Given the description of an element on the screen output the (x, y) to click on. 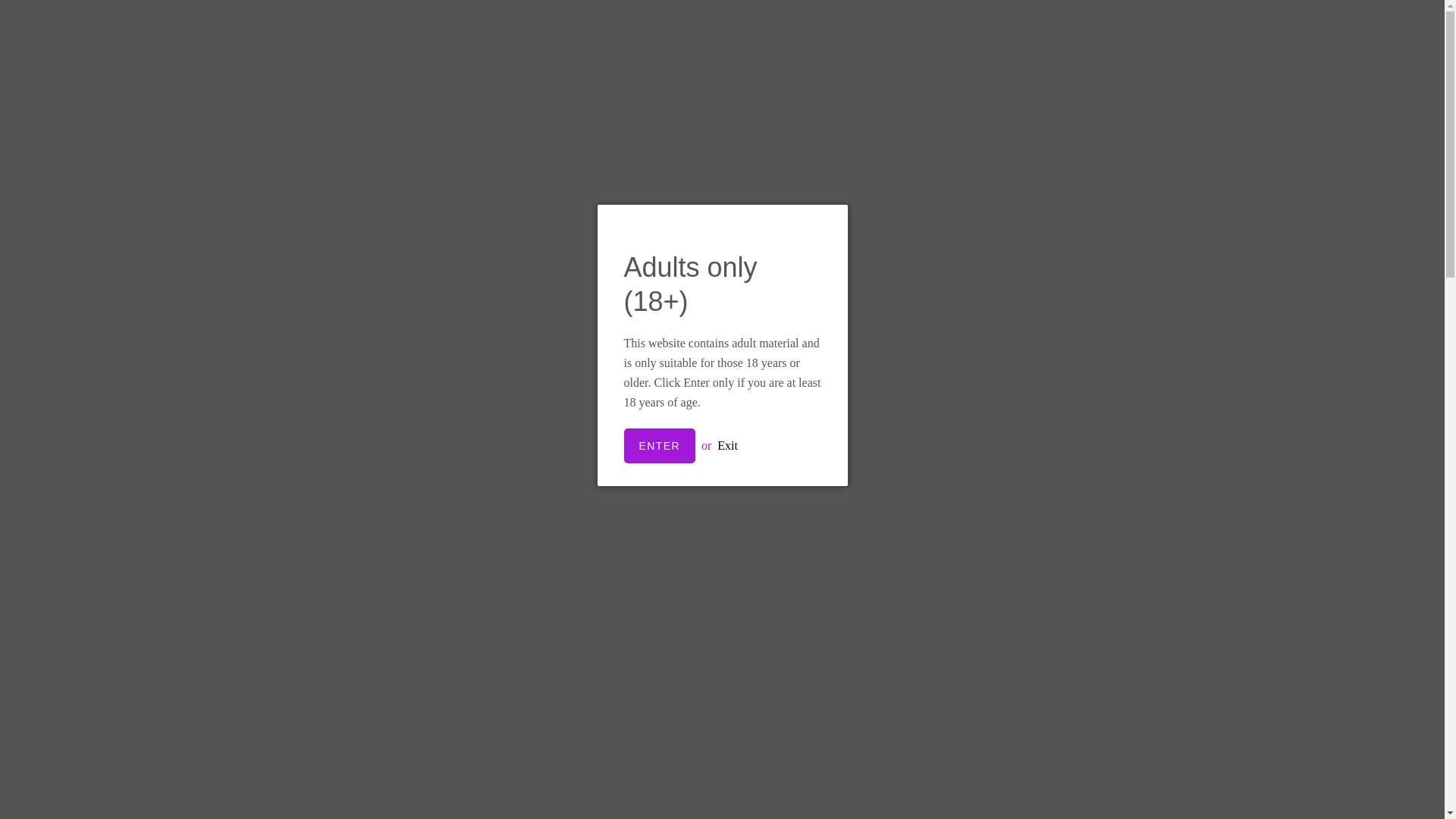
Juice (376, 274)
Home (1173, 156)
